Given the description of an element on the screen output the (x, y) to click on. 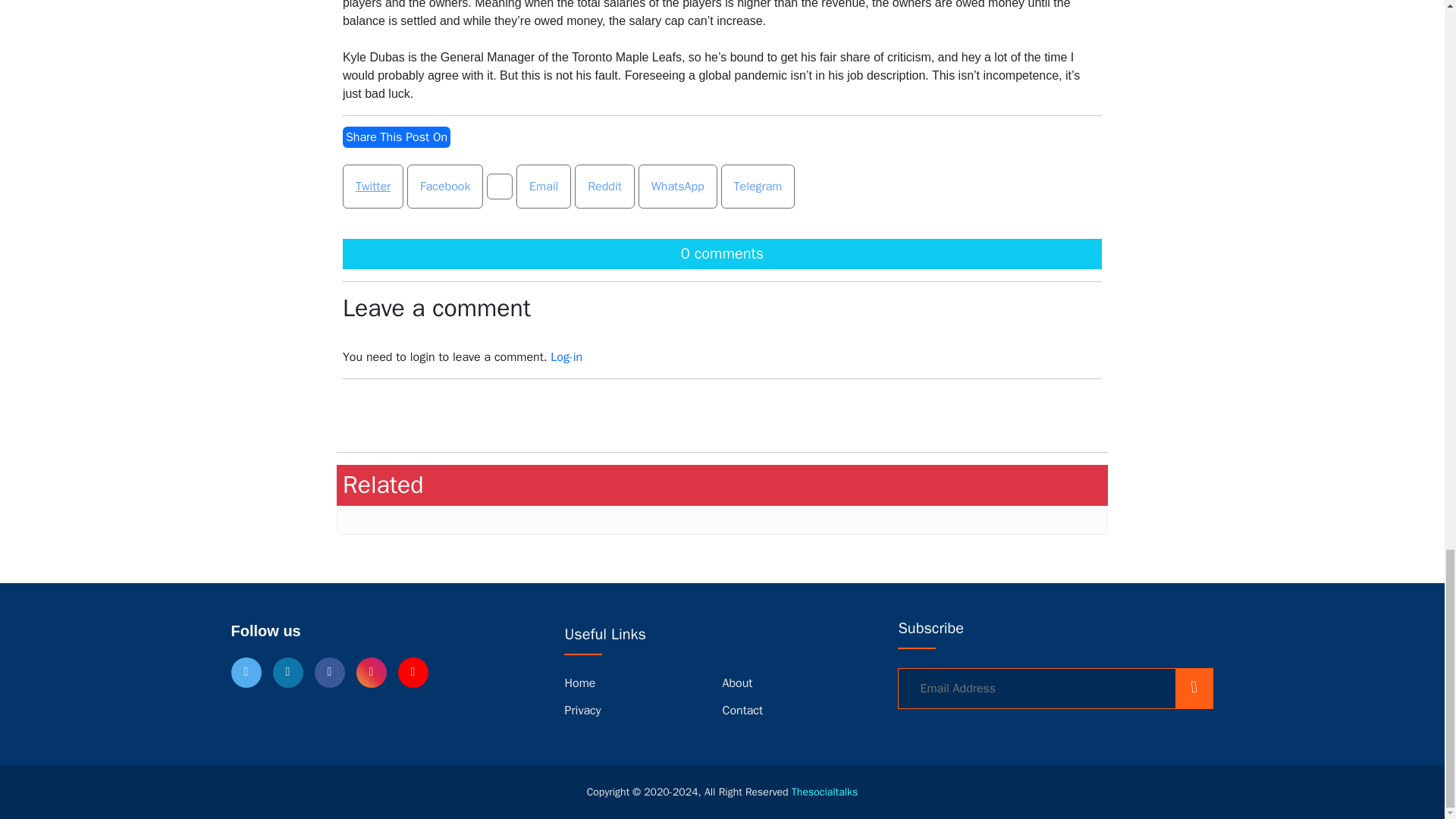
Home (579, 683)
WhatsApp (677, 186)
Log-in (566, 356)
Facebook (445, 186)
Facebook (445, 186)
Reddit (604, 186)
WhatsApp (678, 186)
Twitter (372, 186)
Email (543, 186)
Telegram (758, 186)
Reddit (604, 186)
Telegram (757, 186)
Twitter (372, 186)
Email (543, 186)
